Given the description of an element on the screen output the (x, y) to click on. 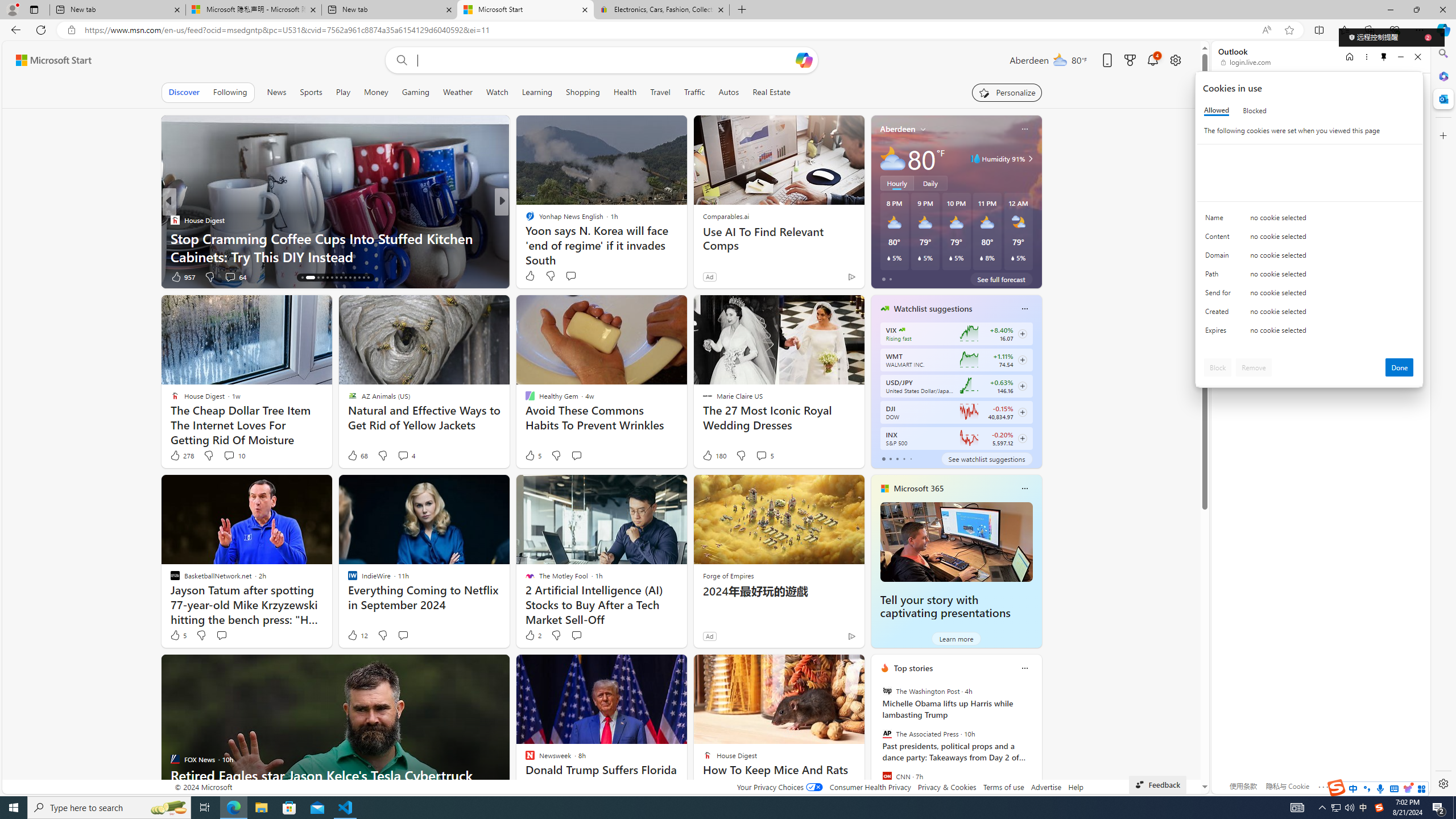
12 Like (357, 634)
Class: c0153 c0157 c0154 (1309, 220)
Blocked (1255, 110)
View comments 3 Comment (580, 276)
557 Like (532, 276)
Personalize your feed" (1007, 92)
previous (876, 741)
tab-3 (903, 458)
